Given the description of an element on the screen output the (x, y) to click on. 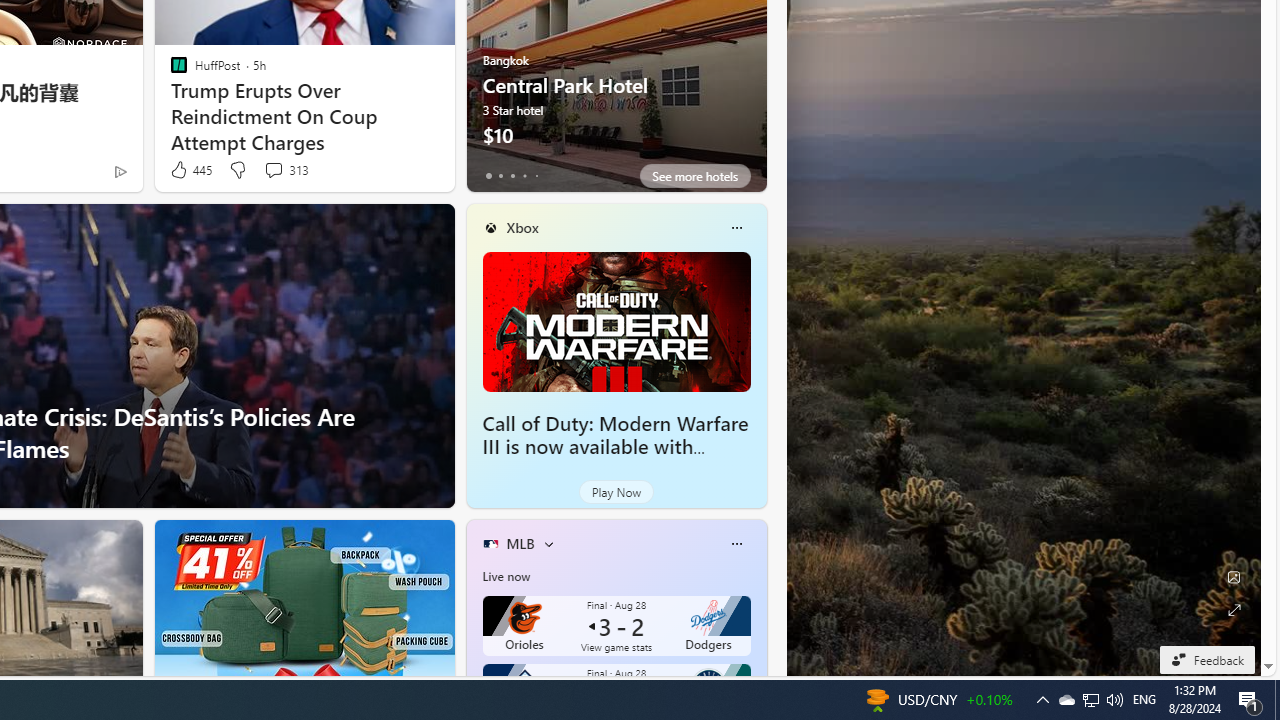
tab-2 (511, 175)
Expand background (1233, 610)
MLB (520, 543)
View comments 313 Comment (273, 169)
tab-4 (535, 175)
Edit Background (1233, 577)
445 Like (190, 170)
Xbox (521, 227)
View comments 313 Comment (285, 170)
